Given the description of an element on the screen output the (x, y) to click on. 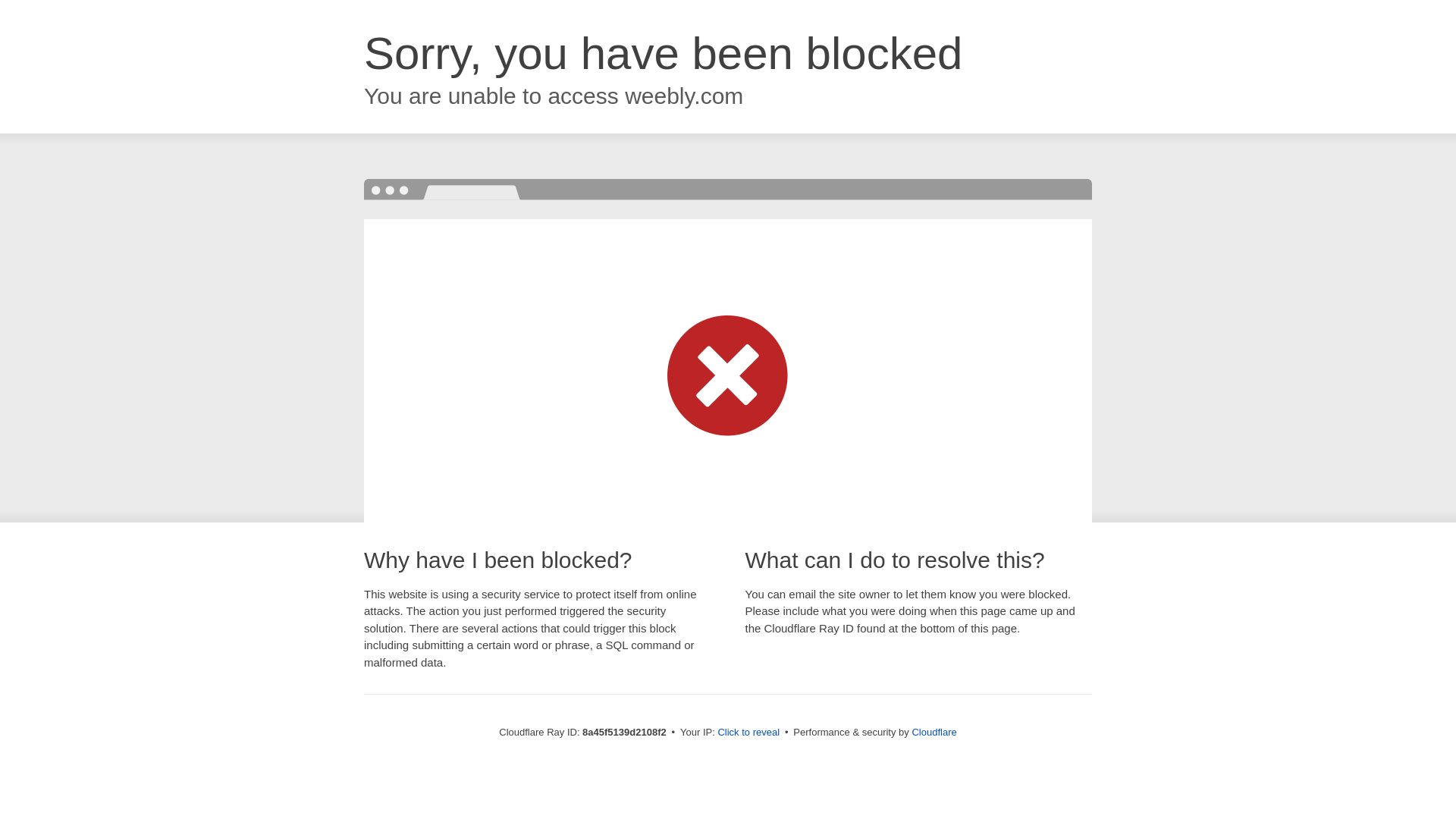
Cloudflare (933, 731)
Click to reveal (747, 732)
